Given the description of an element on the screen output the (x, y) to click on. 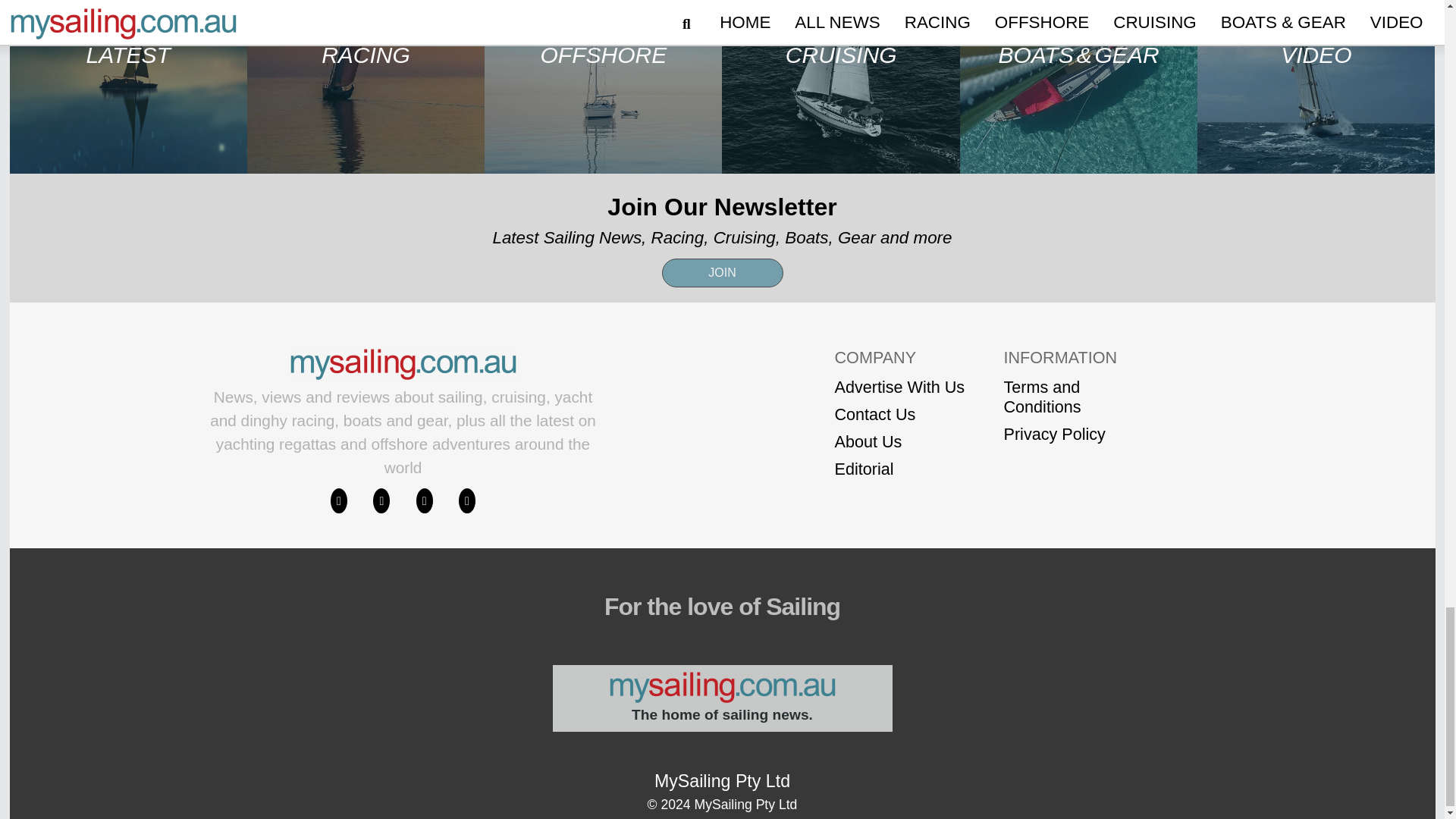
About Us (899, 442)
Editorial (899, 469)
Advertise With Us (899, 387)
Contact Us (899, 414)
